Given the description of an element on the screen output the (x, y) to click on. 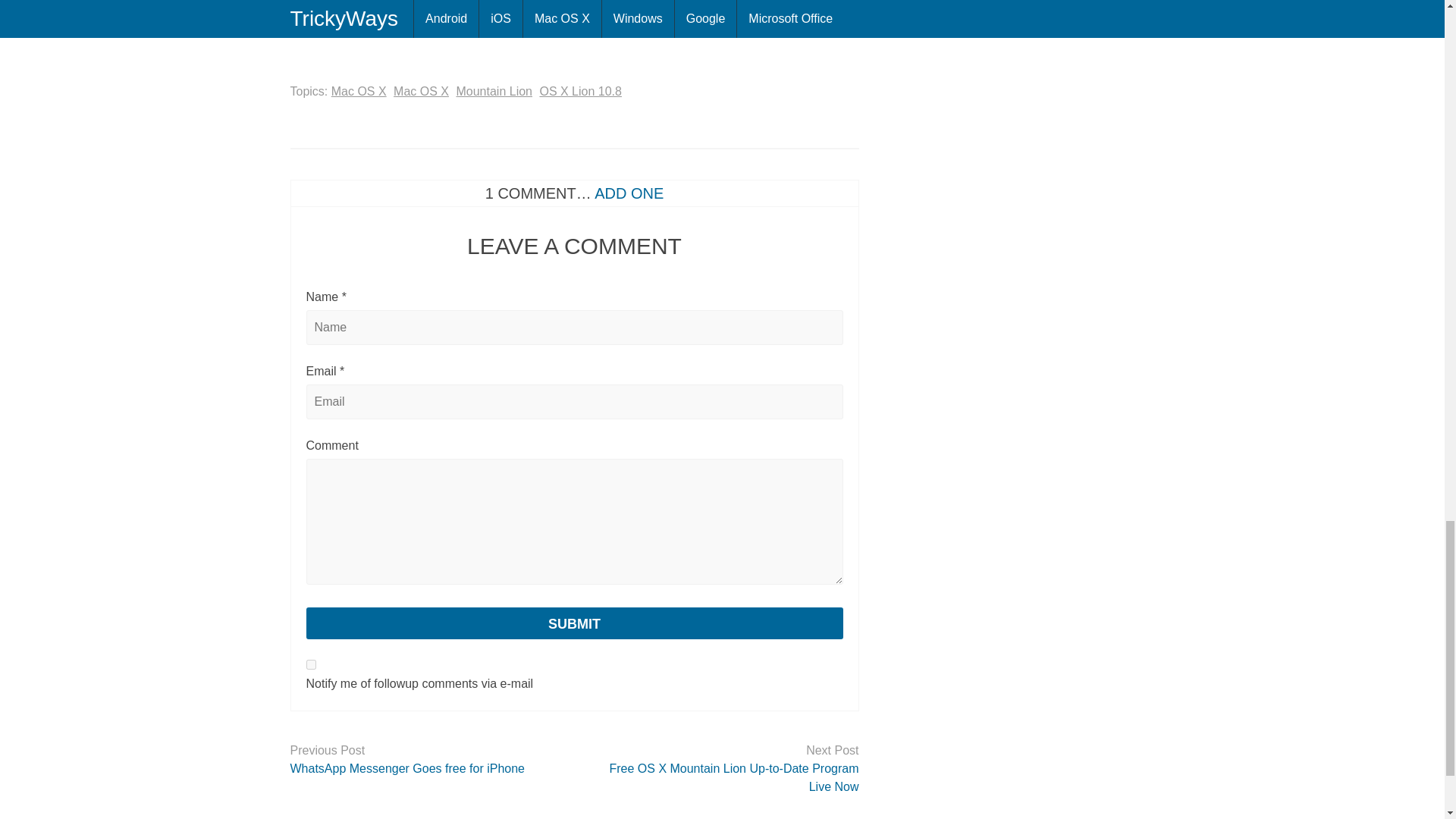
Mac OS X (420, 91)
OS X Lion 10.8 (579, 91)
Mountain Lion (493, 91)
Free OS X Mountain Lion Up-to-Date Program Live Now (722, 778)
WhatsApp Messenger Goes free for iPhone (425, 769)
subscribe (310, 664)
Submit (574, 623)
Mac OS X (359, 91)
Submit (574, 623)
ADD ONE (628, 193)
